Given the description of an element on the screen output the (x, y) to click on. 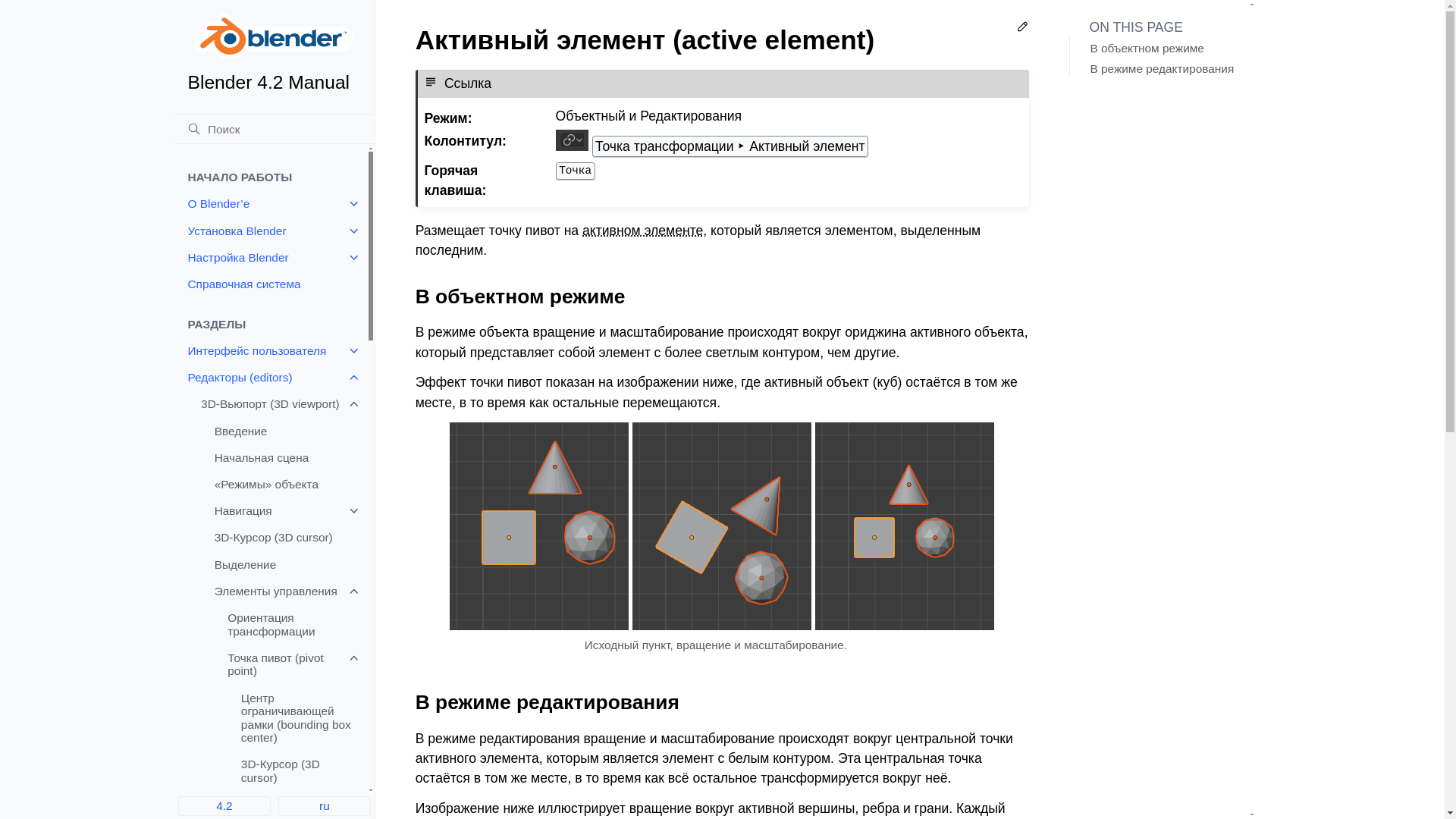
Blender 4.2 Manual (274, 53)
Edit this page (1022, 28)
